Given the description of an element on the screen output the (x, y) to click on. 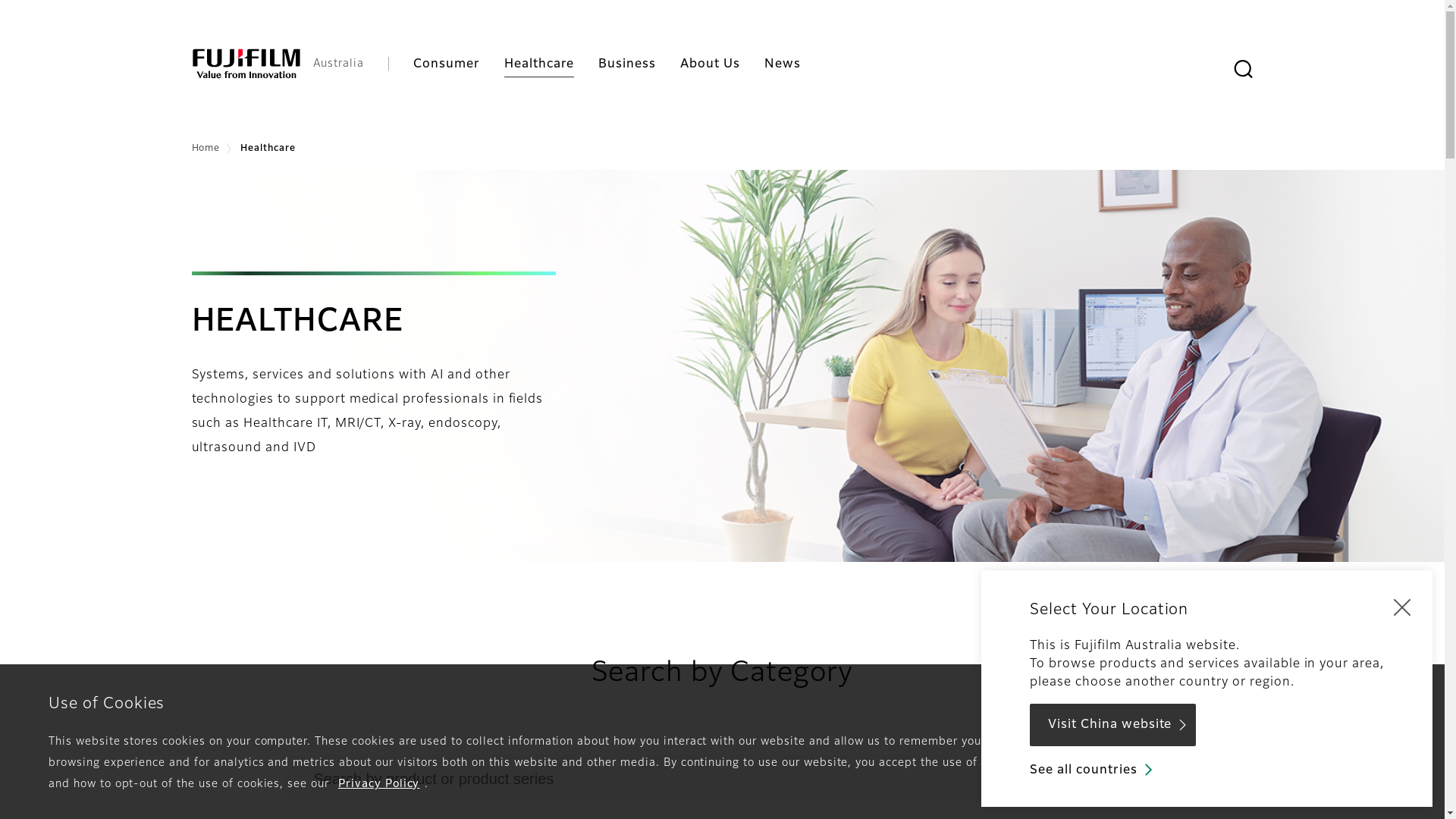
News Element type: text (782, 63)
Business Element type: text (627, 63)
See all countries Element type: text (1091, 770)
Privacy Policy Element type: text (378, 783)
About Us Element type: text (710, 63)
Consumer Element type: text (446, 63)
Visit China website Element type: text (1112, 724)
Home Element type: text (205, 148)
Healthcare Element type: text (539, 63)
